Given the description of an element on the screen output the (x, y) to click on. 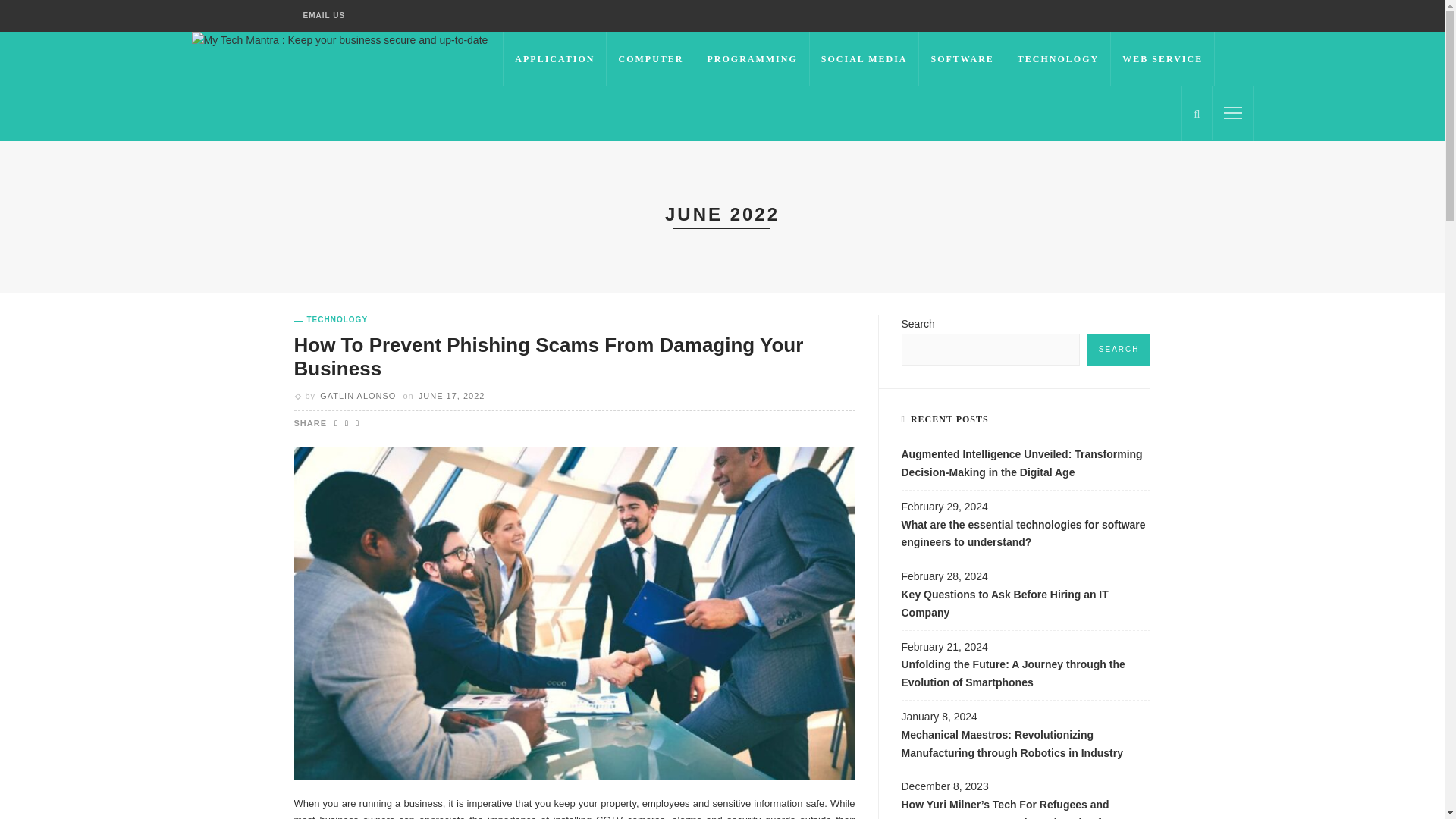
TECHNOLOGY (1058, 58)
How To Prevent Phishing Scams from Damaging Your Business (548, 356)
SOCIAL MEDIA (864, 58)
GATLIN ALONSO (358, 395)
How To Prevent Phishing Scams From Damaging Your Business (548, 356)
EMAIL US (324, 15)
How To Prevent Phishing Scams from Damaging Your Business (575, 612)
SEARCH (1119, 349)
My Tech Mantra : Keep your business secure and up-to-date (338, 39)
PROGRAMMING (752, 58)
Key Questions to Ask Before Hiring an IT Company (1025, 608)
APPLICATION (554, 58)
